Given the description of an element on the screen output the (x, y) to click on. 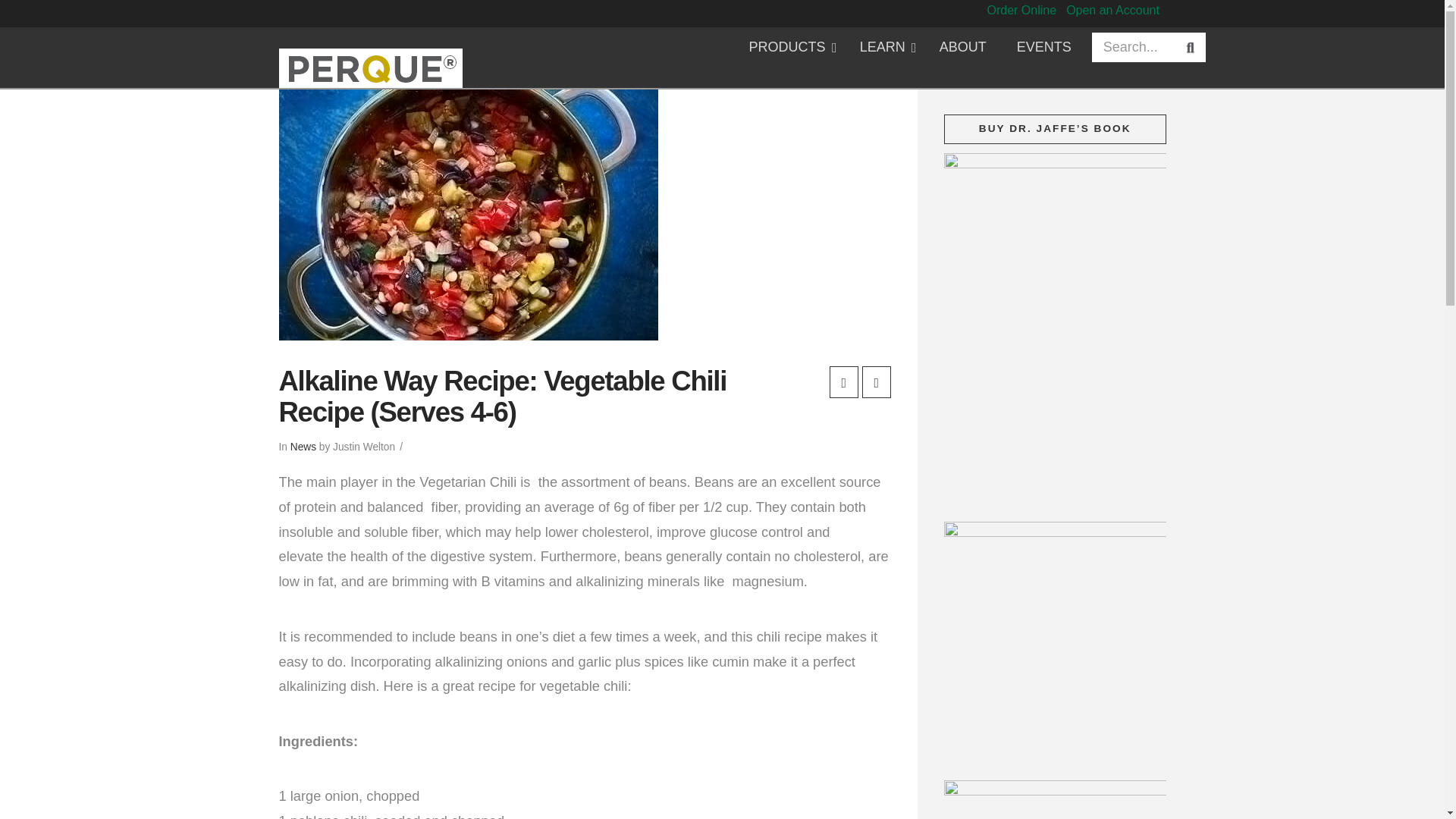
Open an Account (1111, 10)
Order Online (1022, 10)
PRODUCTS (788, 47)
